Given the description of an element on the screen output the (x, y) to click on. 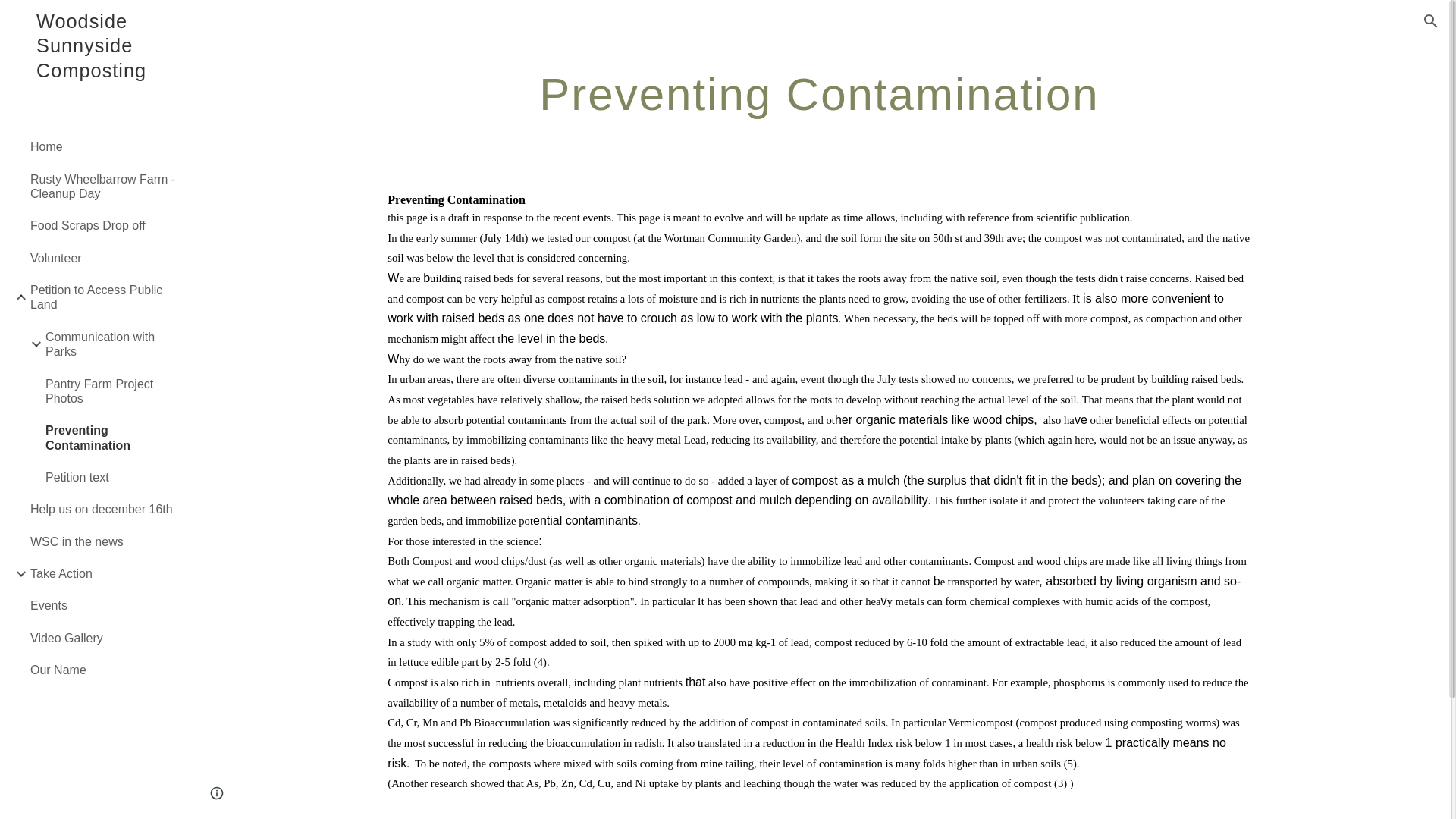
Woodside Sunnyside Composting (94, 65)
Petition to Access Public Land (103, 297)
Preventing Contamination (111, 437)
WSC in the news (103, 541)
Rusty Wheelbarrow Farm - Cleanup Day (103, 185)
Our Name (103, 670)
Volunteer (103, 257)
Events (103, 605)
Take Action (103, 573)
Help us on december 16th (103, 509)
Petition text (111, 477)
Home (103, 146)
Communication with Parks (111, 344)
Video Gallery (103, 637)
Food Scraps Drop off (103, 225)
